Given the description of an element on the screen output the (x, y) to click on. 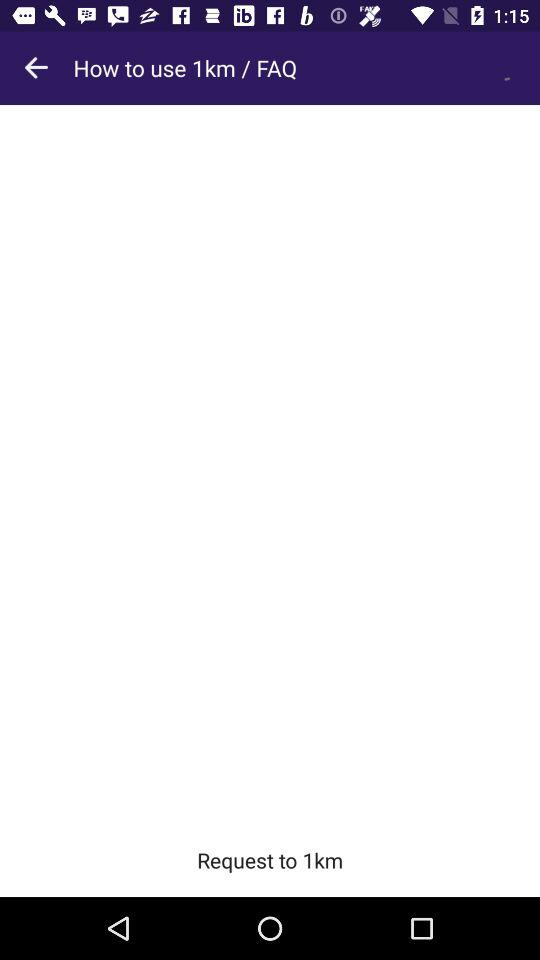
launch the icon at the center (270, 464)
